Given the description of an element on the screen output the (x, y) to click on. 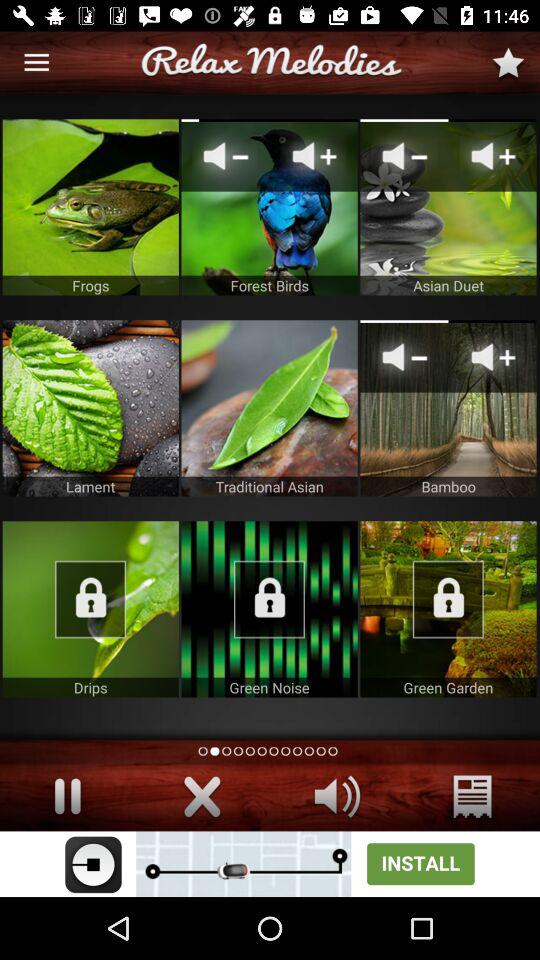
traditional asian sound (269, 408)
